Given the description of an element on the screen output the (x, y) to click on. 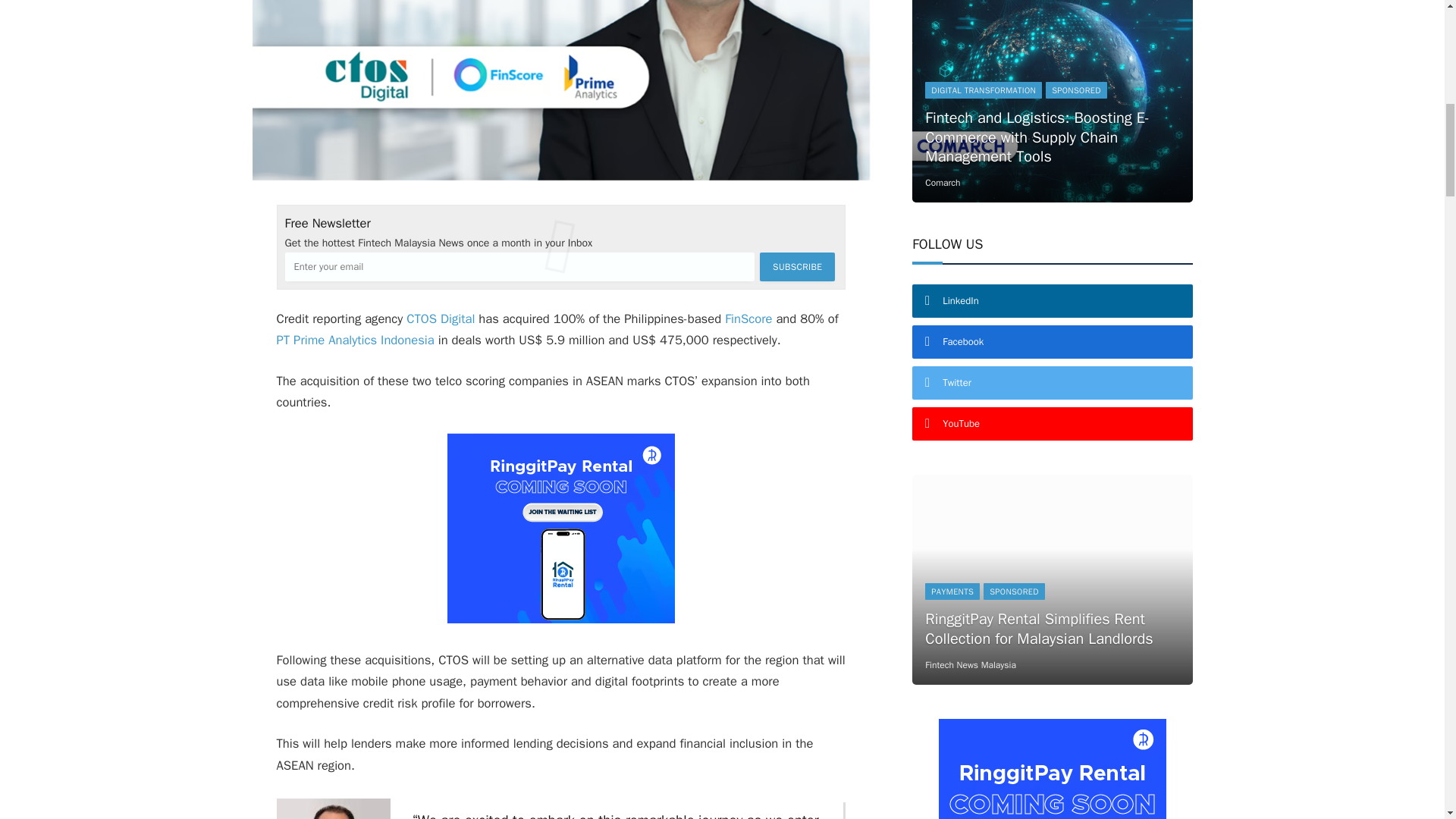
Subscribe (797, 266)
